Given the description of an element on the screen output the (x, y) to click on. 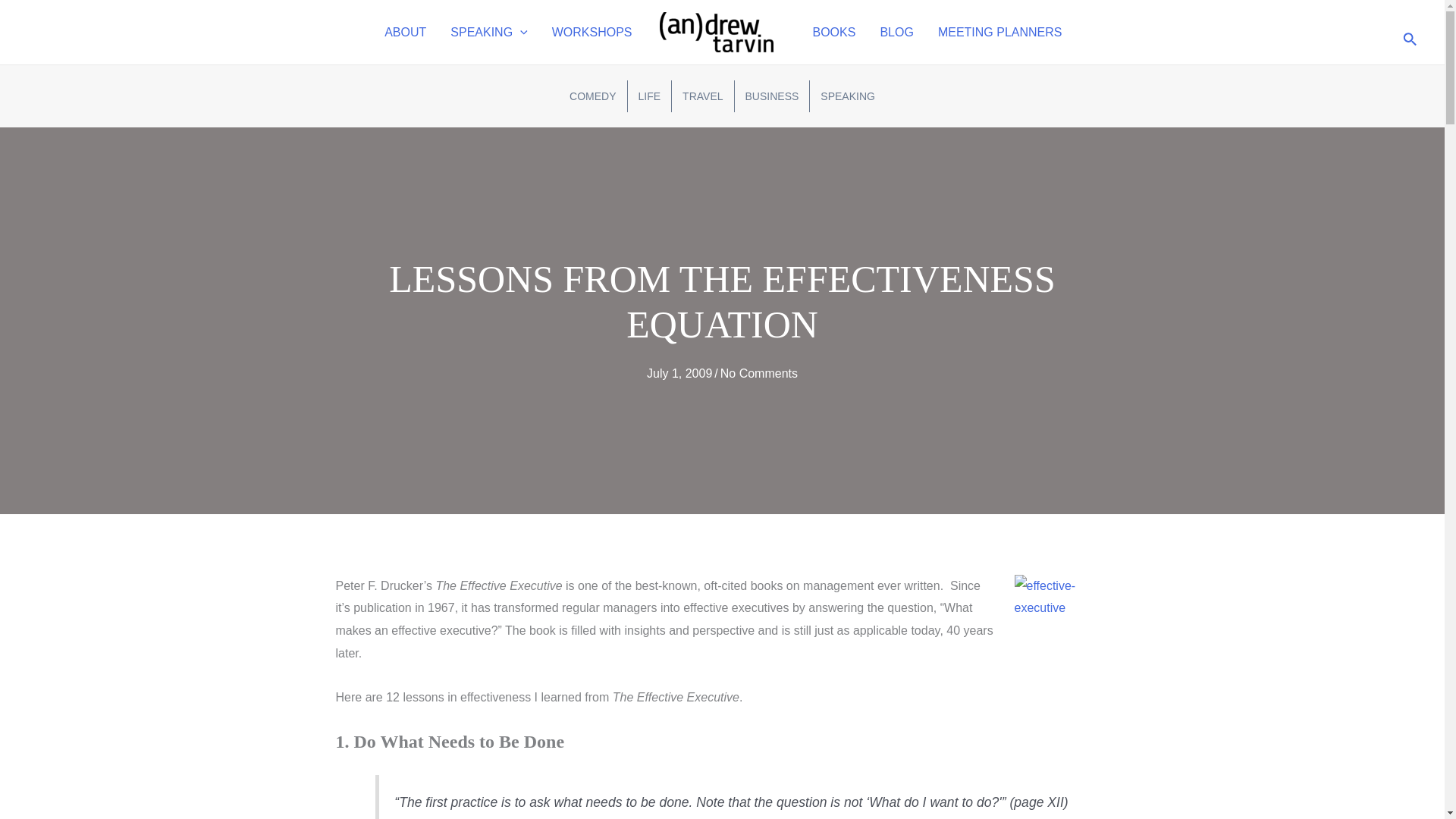
ABOUT (405, 32)
No Comments (758, 373)
LIFE (649, 96)
BOOKS (833, 32)
SPEAKING (847, 96)
COMEDY (592, 96)
TRAVEL (702, 96)
BLOG (895, 32)
MEETING PLANNERS (1000, 32)
BUSINESS (772, 96)
